Given the description of an element on the screen output the (x, y) to click on. 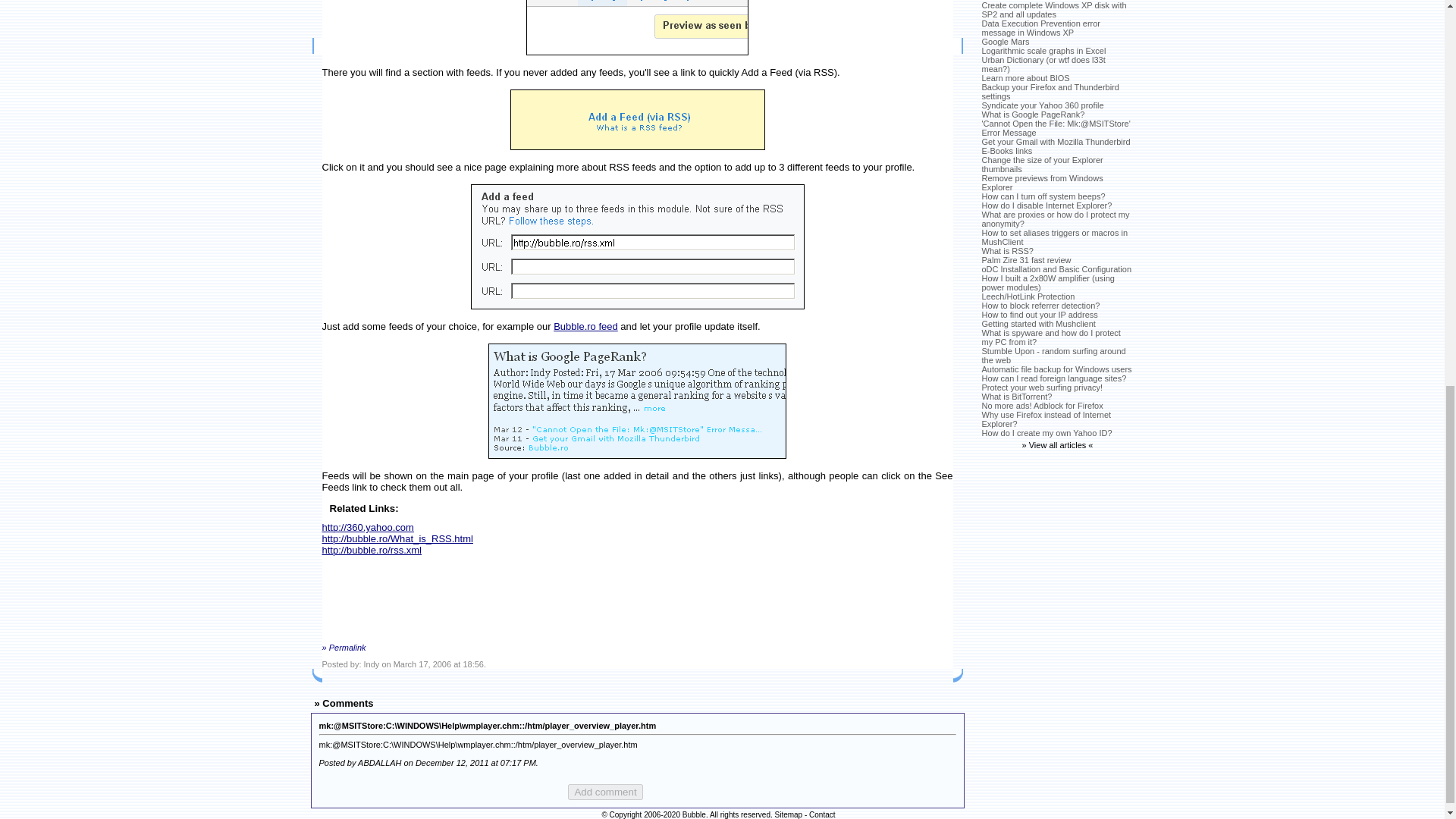
Advertisement (397, 601)
Add comment (604, 791)
Add comment (604, 791)
Bubble.ro feed (585, 326)
